Given the description of an element on the screen output the (x, y) to click on. 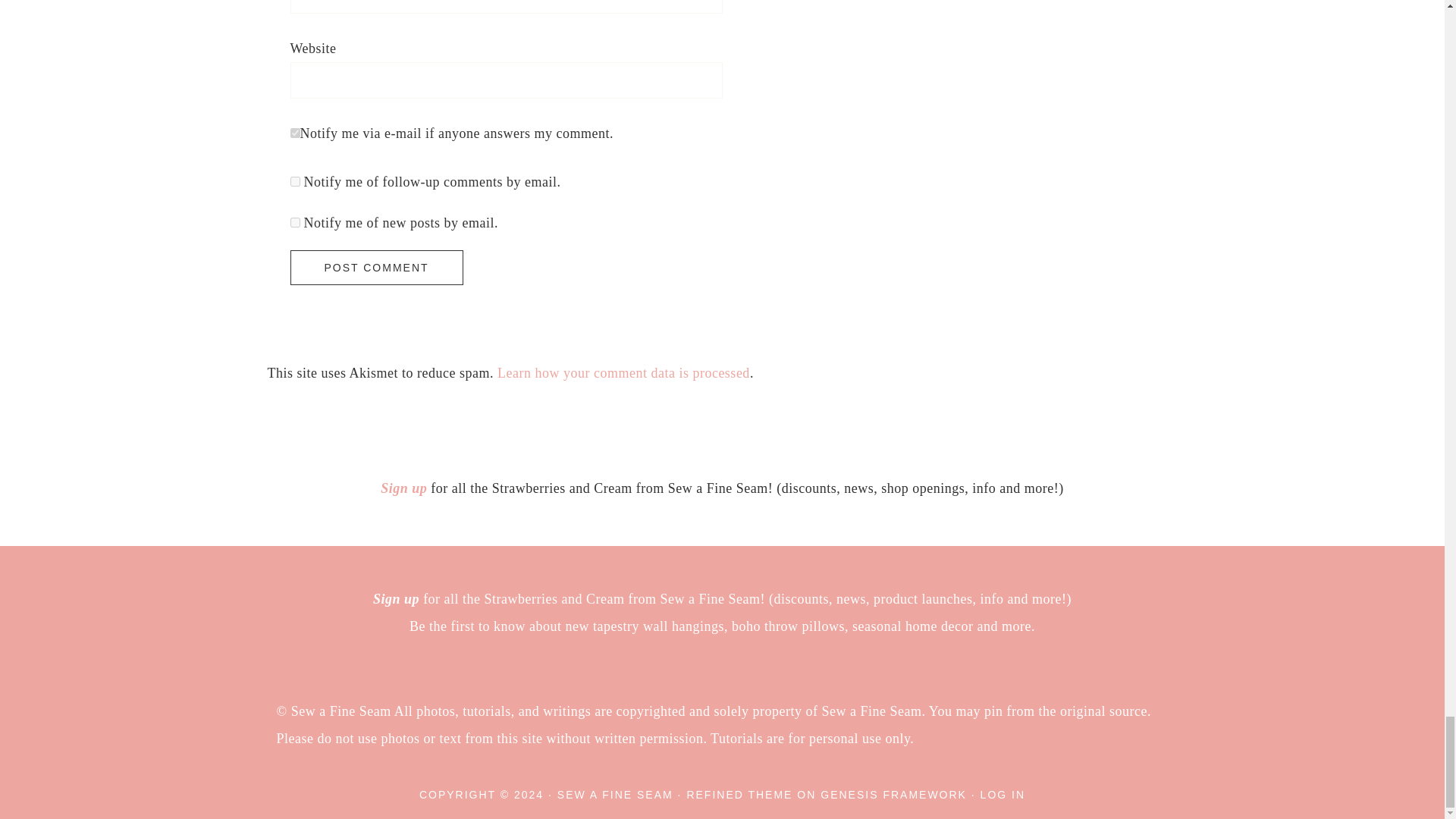
subscribe (294, 222)
on (294, 132)
Post Comment (376, 267)
subscribe (294, 181)
